Given the description of an element on the screen output the (x, y) to click on. 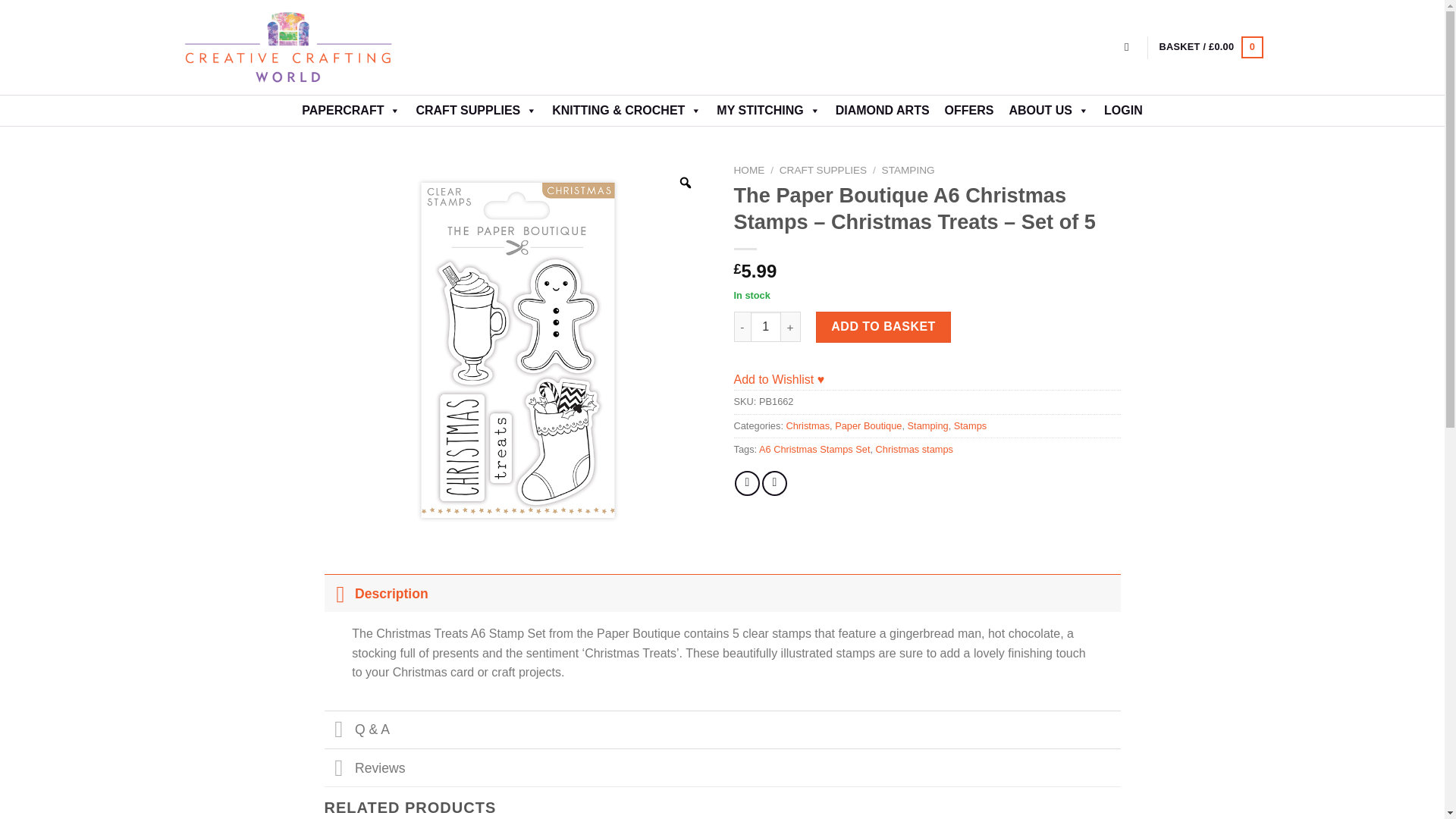
Email to a Friend (774, 483)
Basket (1210, 47)
PAPERCRAFT (350, 110)
Share on Facebook (747, 483)
Creative Crafting World - Creative Crafting World (315, 47)
1 (765, 327)
